Given the description of an element on the screen output the (x, y) to click on. 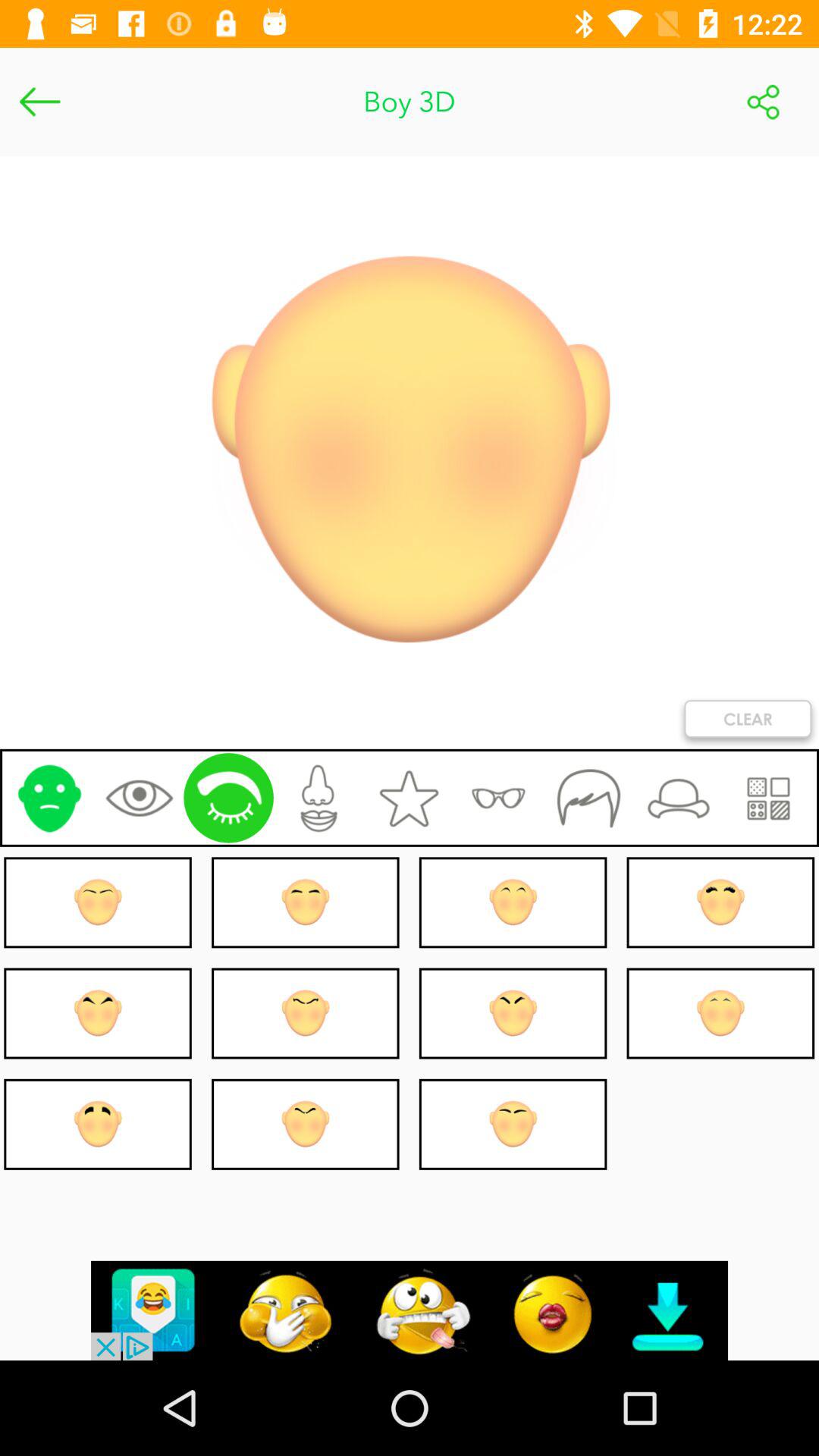
go to back (40, 101)
